Given the description of an element on the screen output the (x, y) to click on. 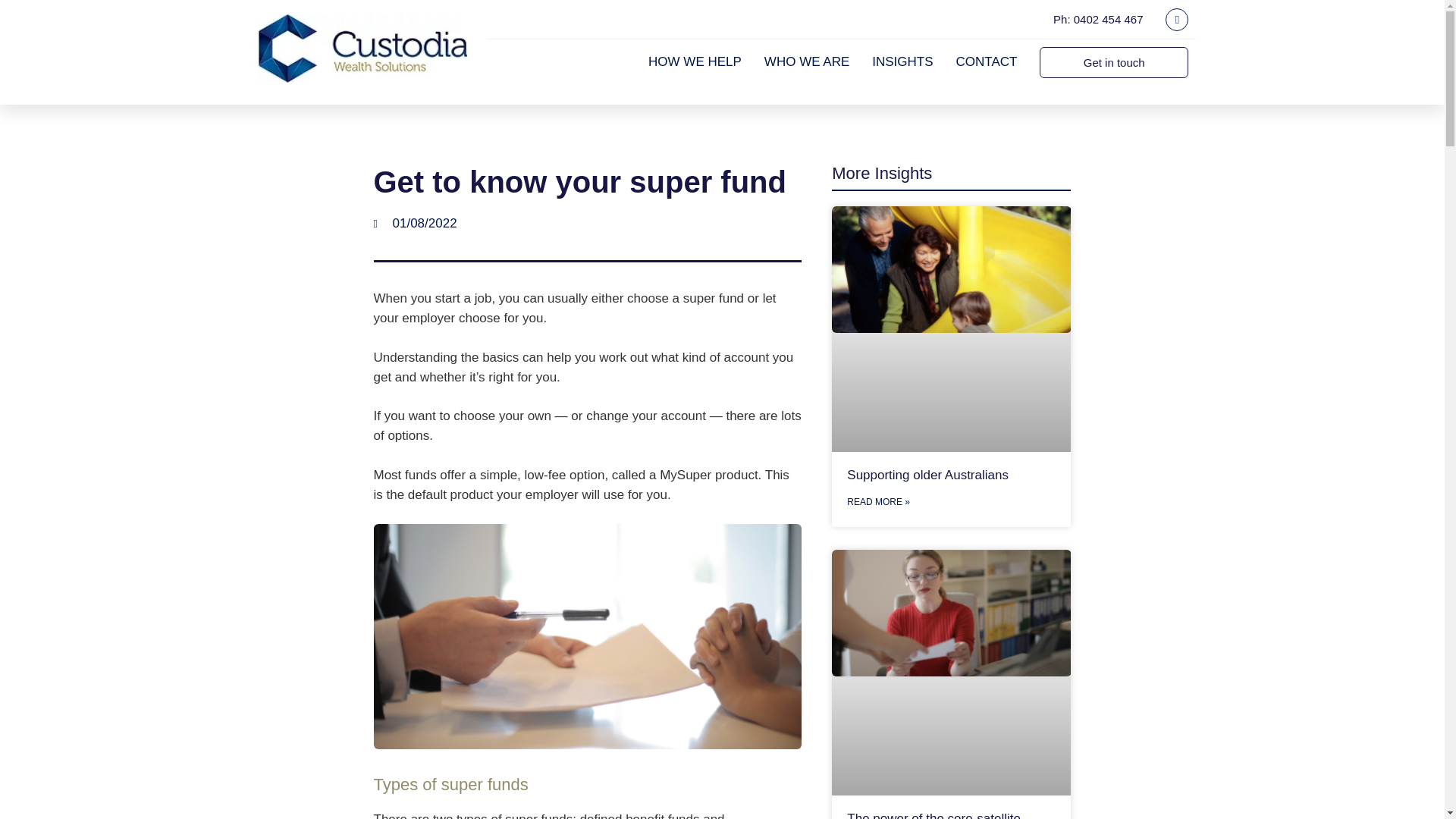
HOW WE HELP (694, 61)
WHO WE ARE (807, 61)
Ph: 0402 454 467 (1097, 19)
Get in touch (1113, 61)
The power of the core-satellite investing strategy (933, 815)
Supporting older Australians (928, 474)
INSIGHTS (902, 61)
CONTACT (987, 61)
